Given the description of an element on the screen output the (x, y) to click on. 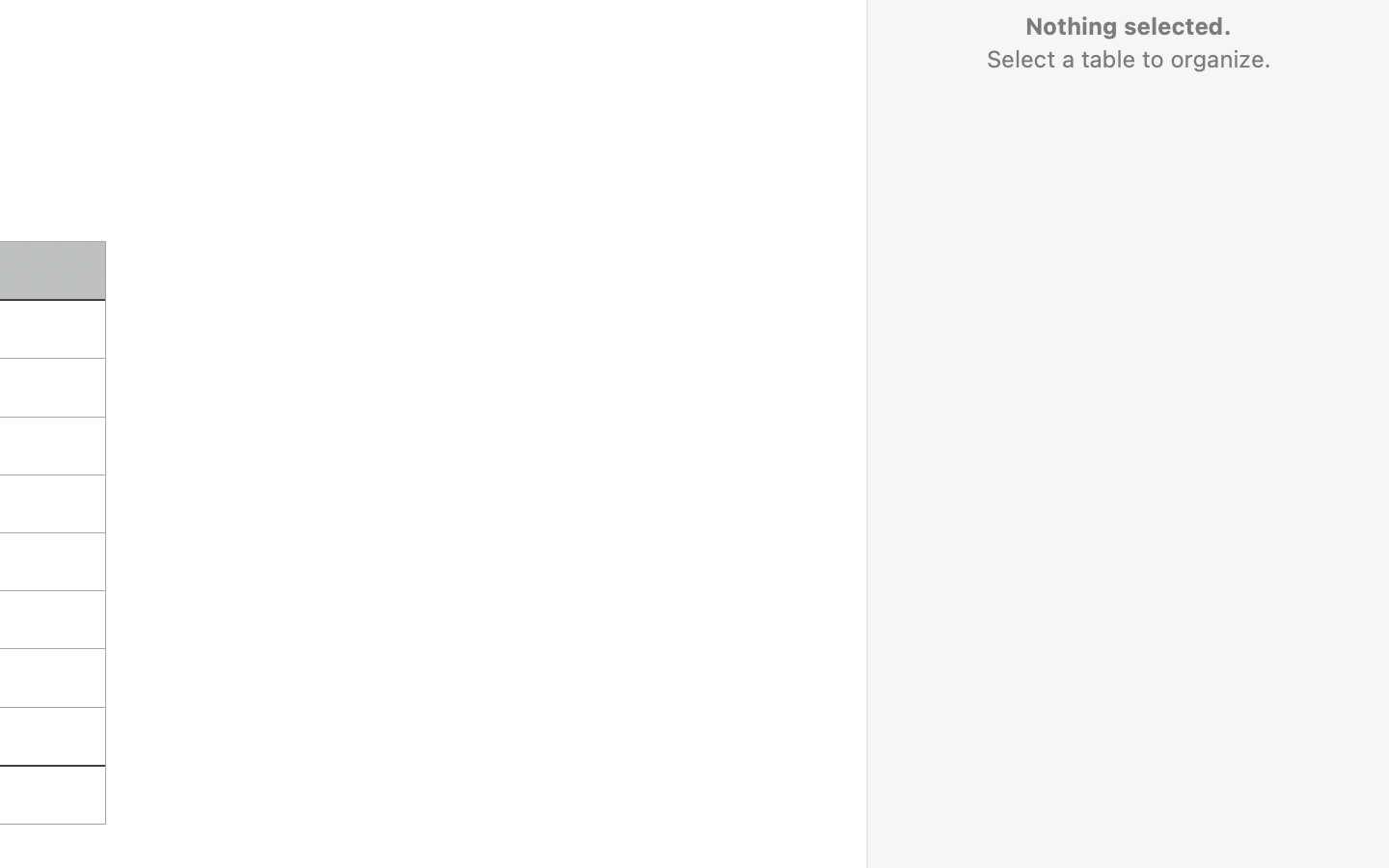
Select a table to organize. Element type: AXStaticText (1127, 58)
Nothing selected. Element type: AXStaticText (1127, 25)
